Given the description of an element on the screen output the (x, y) to click on. 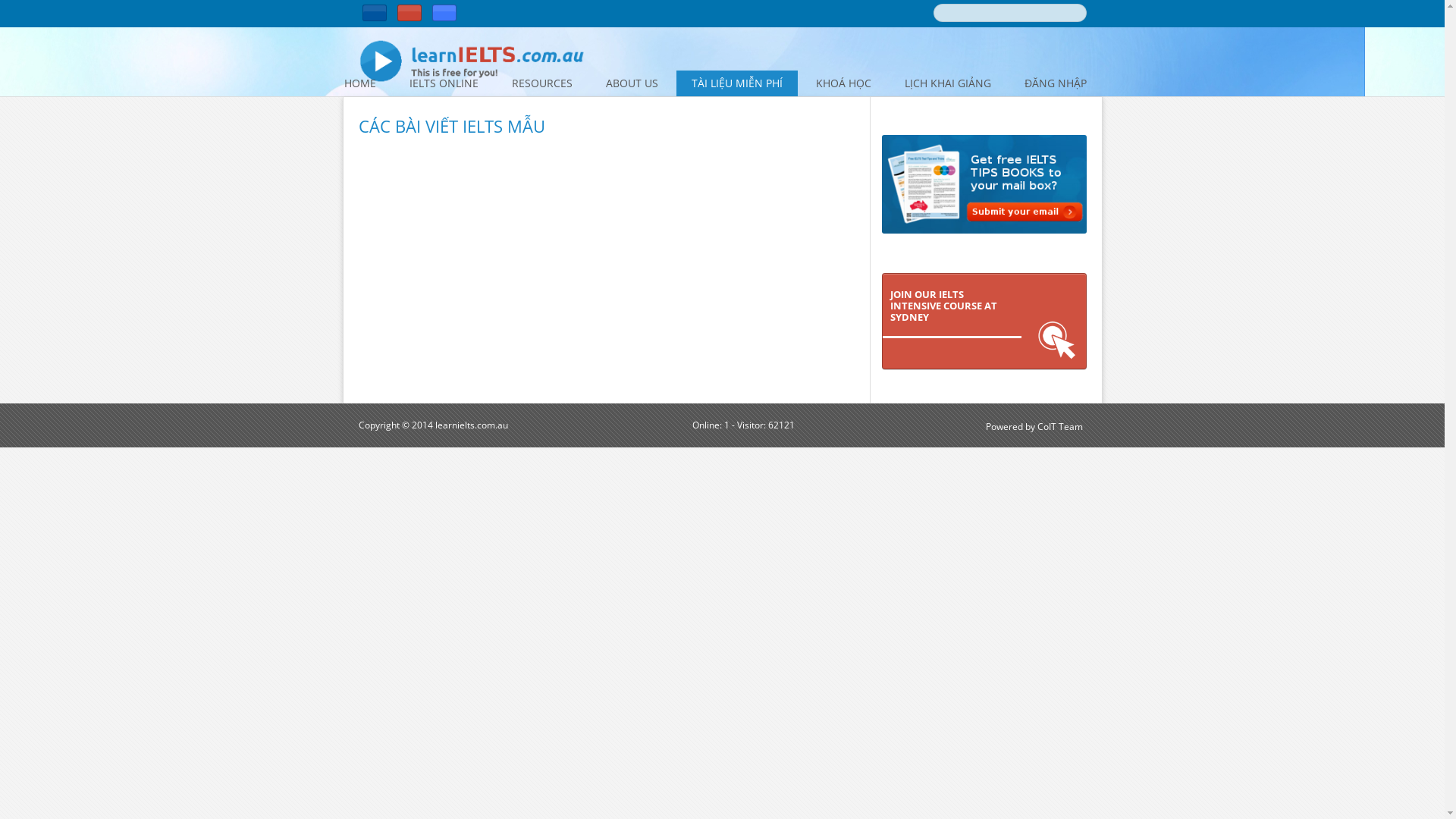
FAQS FOR IELTS Element type: text (470, 112)
GET FREE IELTS TIPS BOOKS Element type: text (572, 112)
IELTS ONLINE Element type: text (443, 83)
Skip to content Element type: text (752, 75)
JOIN OUR IELTS INTENSIVE COURSE AT SYDNEY Element type: text (983, 321)
ABOUT US Element type: text (630, 83)
RESOURCES Element type: text (540, 83)
Powered by CoIT Team Element type: text (1033, 426)
HOME Element type: text (360, 83)
